Given the description of an element on the screen output the (x, y) to click on. 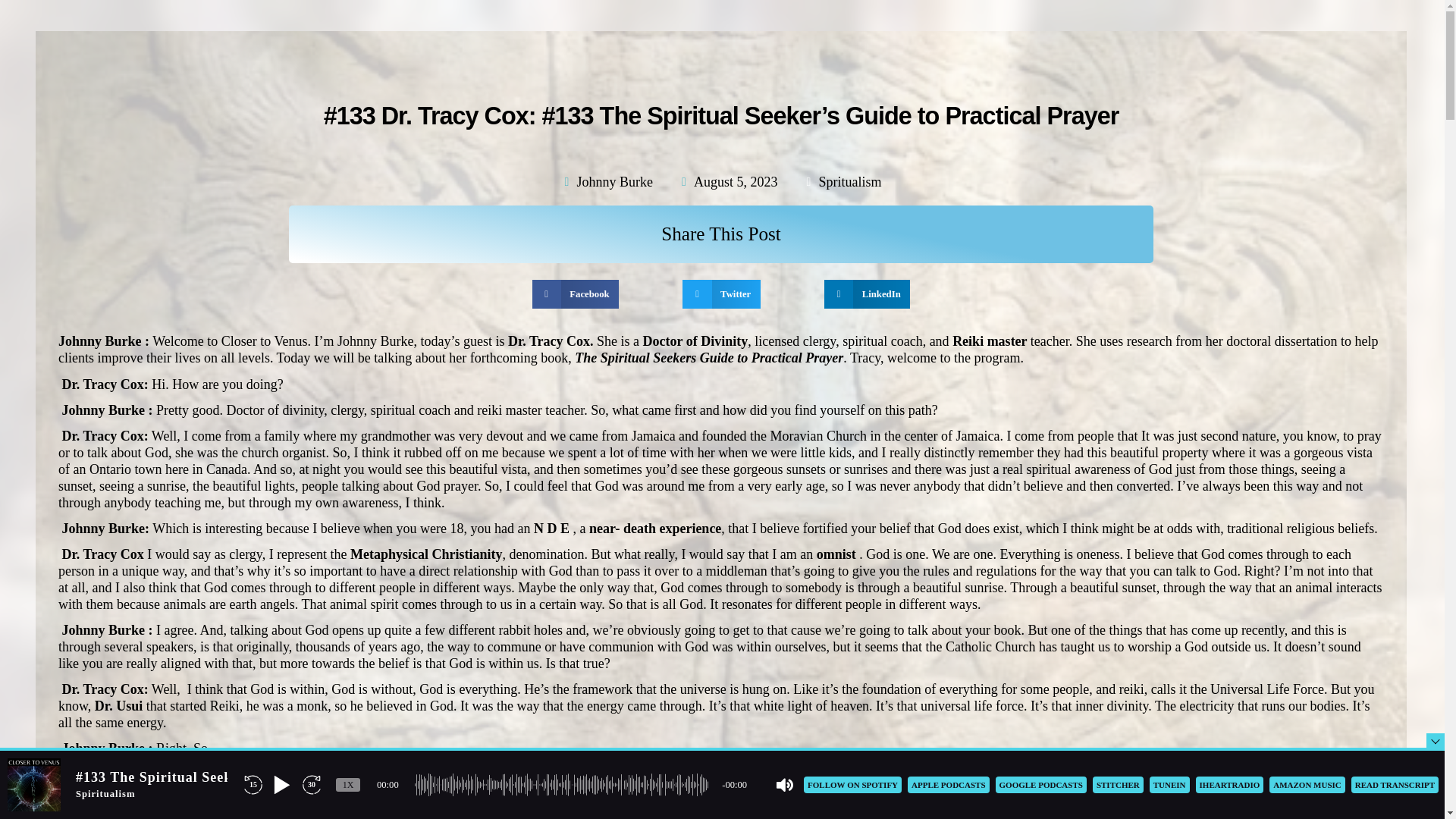
Spritualism (850, 181)
Johnny Burke (606, 181)
August 5, 2023 (727, 181)
